Given the description of an element on the screen output the (x, y) to click on. 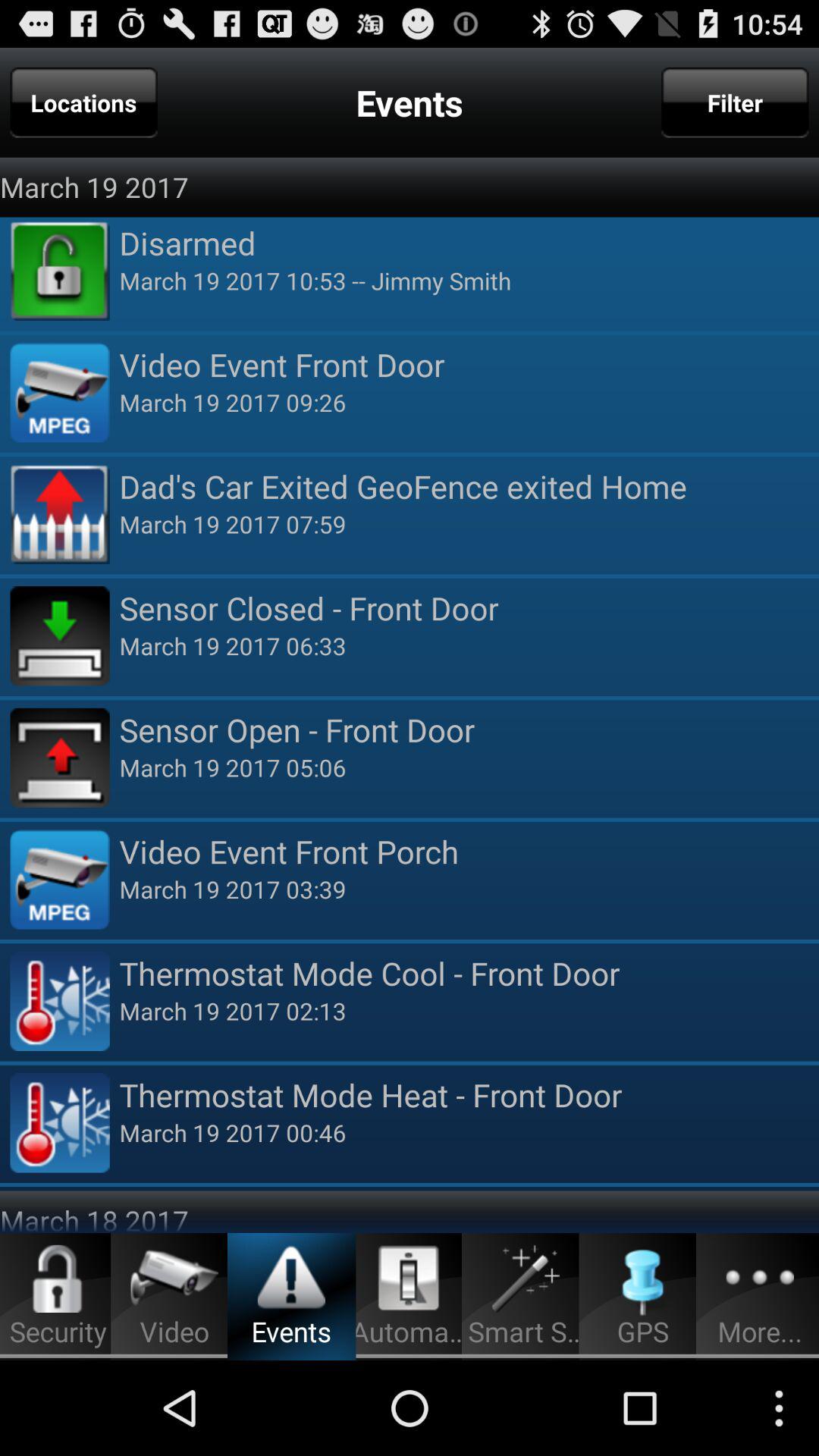
launch the app above the disarmed (734, 102)
